Given the description of an element on the screen output the (x, y) to click on. 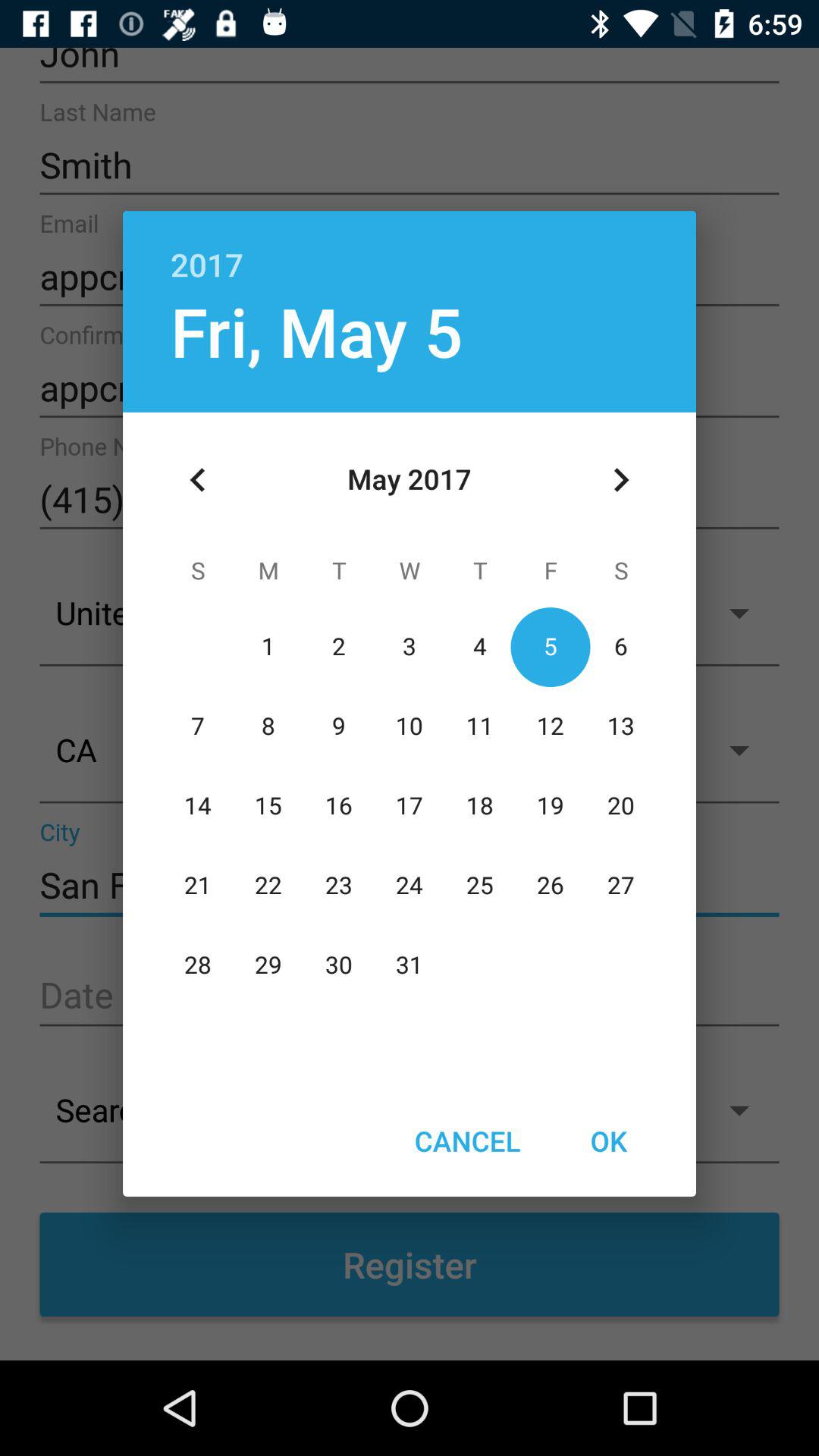
launch 2017 (409, 248)
